Given the description of an element on the screen output the (x, y) to click on. 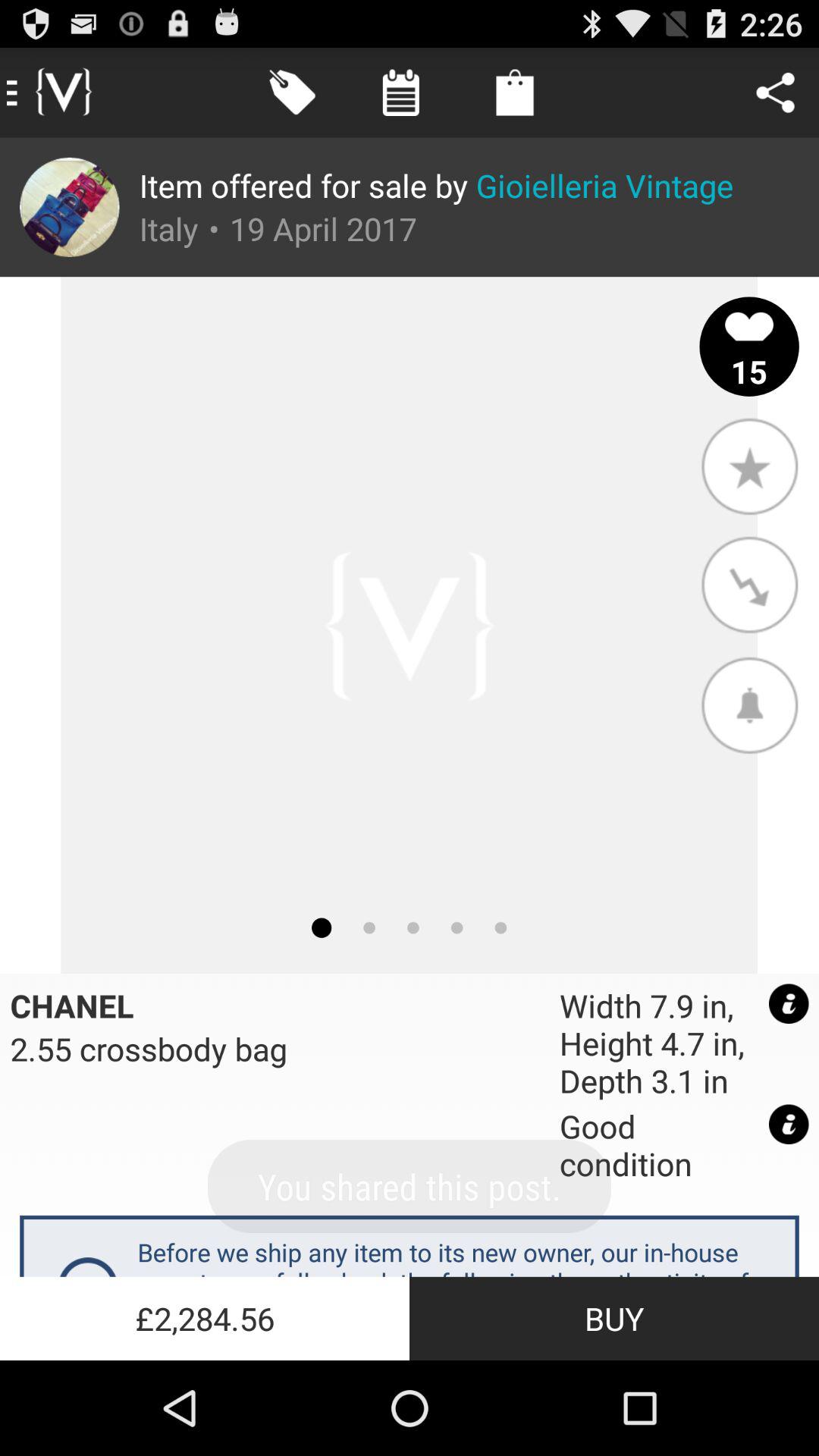
press the app next to the item offered for app (69, 207)
